Given the description of an element on the screen output the (x, y) to click on. 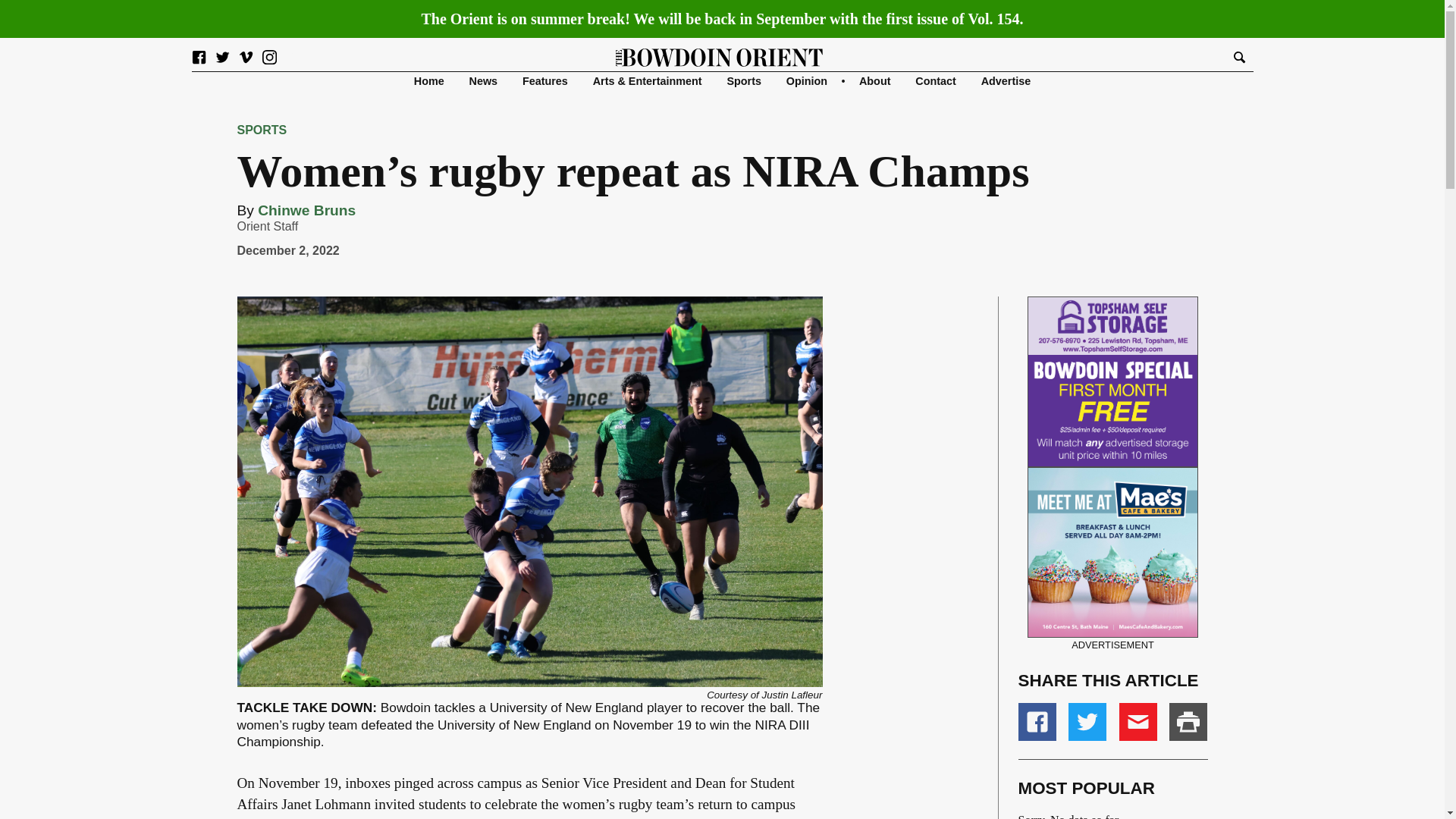
Home (428, 80)
Contact (935, 80)
Features (544, 80)
Chinwe Bruns (306, 210)
Sports (743, 80)
News (482, 80)
The Bowdoin Orient - Home (719, 56)
About (875, 80)
Share via Email (1138, 721)
Share on Facebook (1036, 721)
Opinion (806, 80)
SPORTS (260, 129)
Advertise (1005, 80)
Share on Twitter (1087, 721)
Print this article (1188, 721)
